Given the description of an element on the screen output the (x, y) to click on. 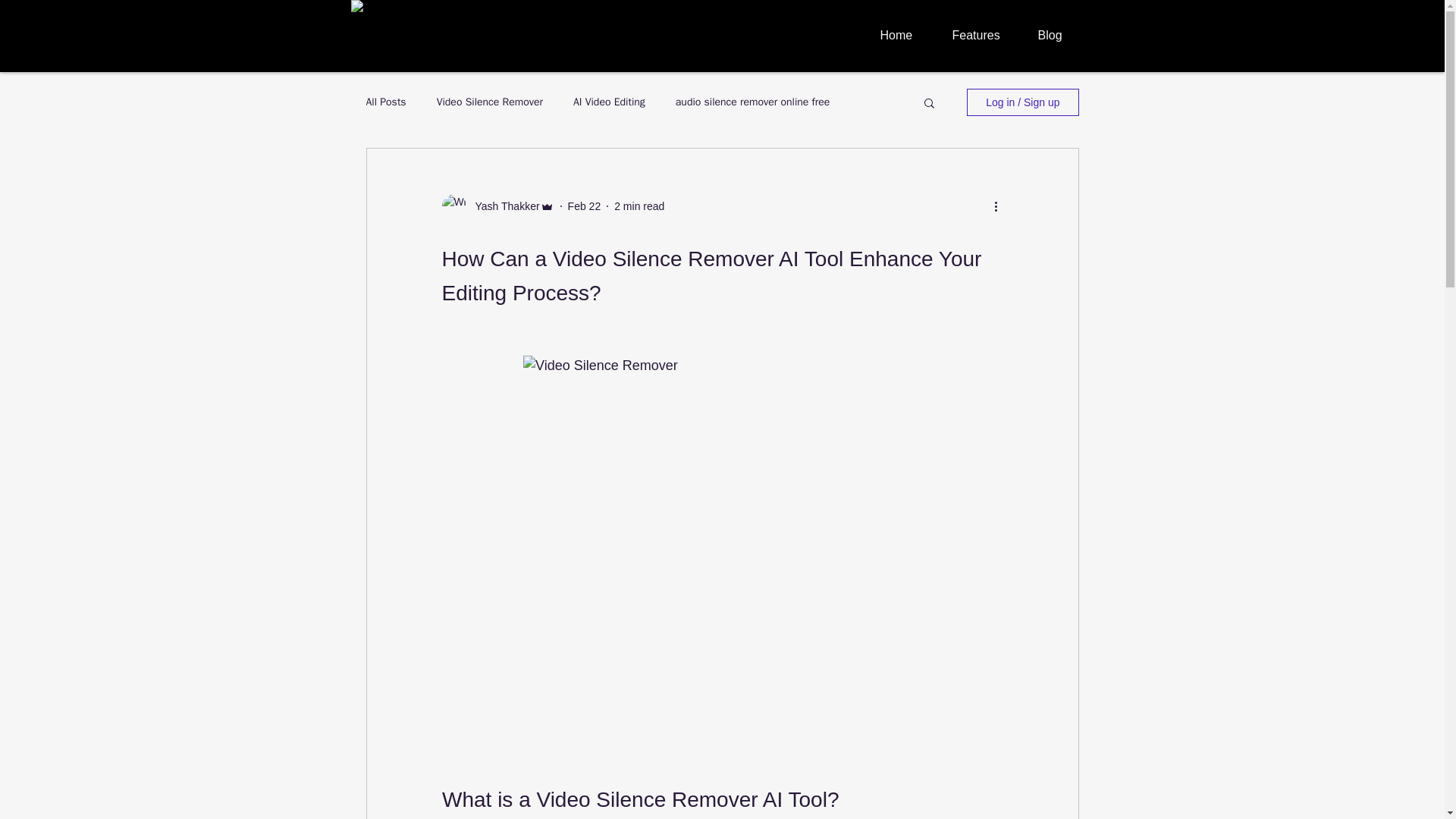
audio silence remover online free (752, 101)
All Posts (385, 101)
Feb 22 (584, 205)
Features (983, 35)
AI Video Editing (609, 101)
Yash Thakker (501, 206)
2 min read (638, 205)
Video Silence Remover (489, 101)
Home (904, 35)
Blog (1058, 35)
